Given the description of an element on the screen output the (x, y) to click on. 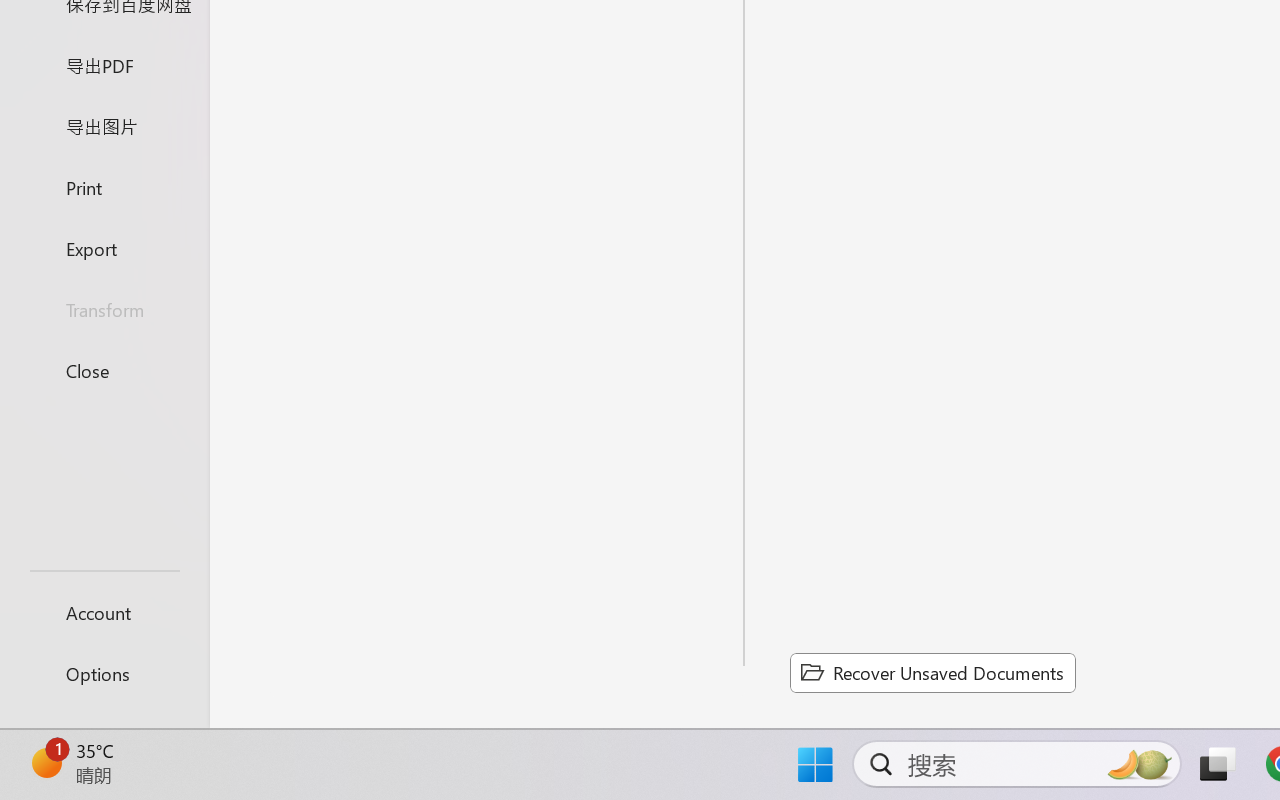
Account (104, 612)
Recover Unsaved Documents (932, 672)
Transform (104, 309)
Export (104, 248)
Print (104, 186)
Options (104, 673)
